Given the description of an element on the screen output the (x, y) to click on. 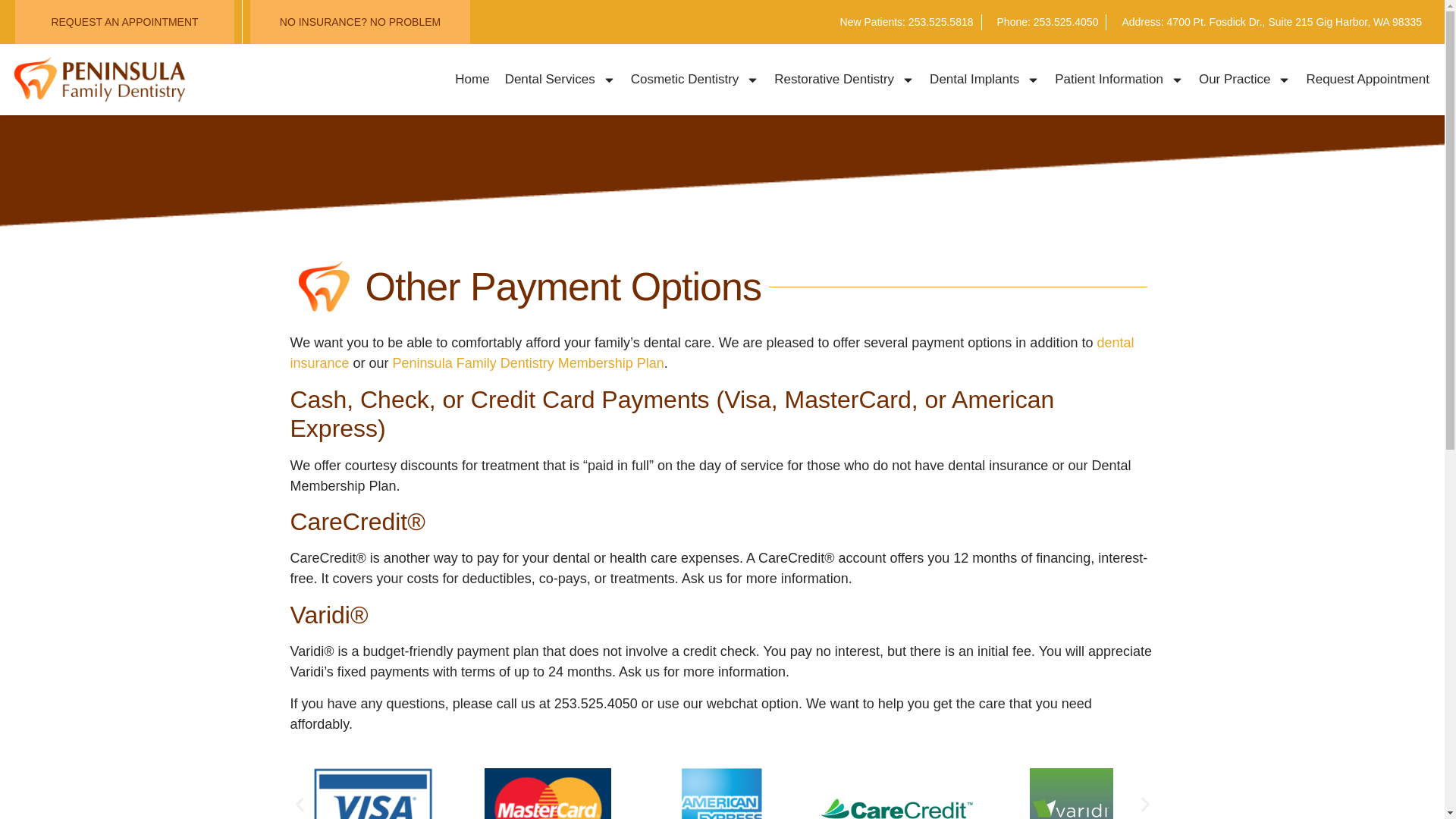
Restorative Dentistry (844, 79)
REQUEST AN APPOINTMENT (124, 22)
NO INSURANCE? NO PROBLEM (360, 22)
New Patients: 253.525.5818 (907, 21)
Phone: 253.525.4050 (1048, 21)
Cosmetic Dentistry (695, 79)
Dental Services (560, 79)
Dental Implants (983, 79)
Home (471, 79)
